Given the description of an element on the screen output the (x, y) to click on. 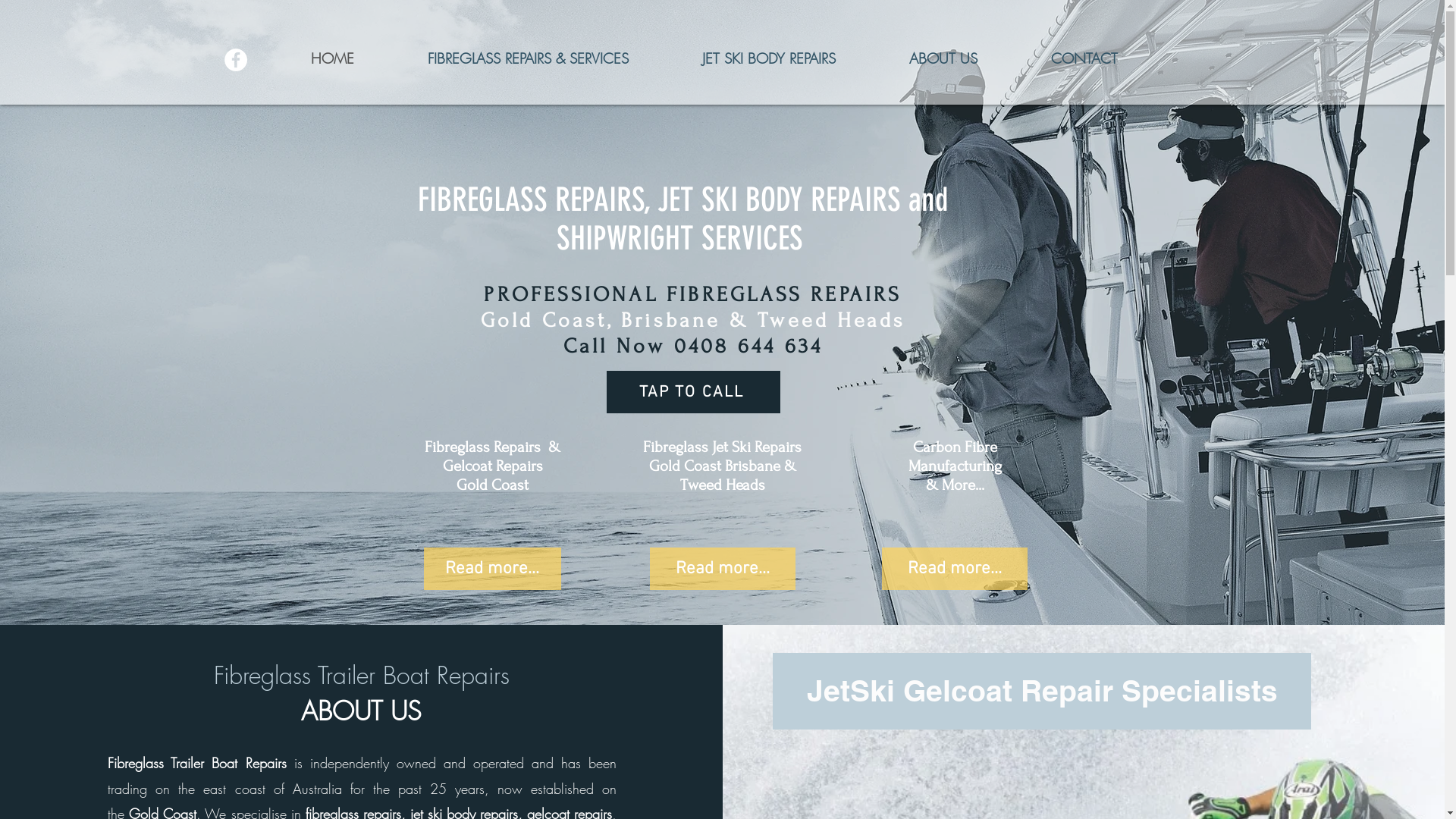
Read more... Element type: text (491, 568)
HOME Element type: text (332, 57)
Read more... Element type: text (953, 568)
JET SKI BODY REPAIRS Element type: text (768, 57)
ABOUT US Element type: text (942, 57)
Read more... Element type: text (721, 568)
CONTACT Element type: text (1084, 57)
0408 644 634 Element type: text (748, 345)
TAP TO CALL Element type: text (693, 391)
  Element type: text (805, 238)
FIBREGLASS REPAIRS & SERVICES Element type: text (528, 57)
